Given the description of an element on the screen output the (x, y) to click on. 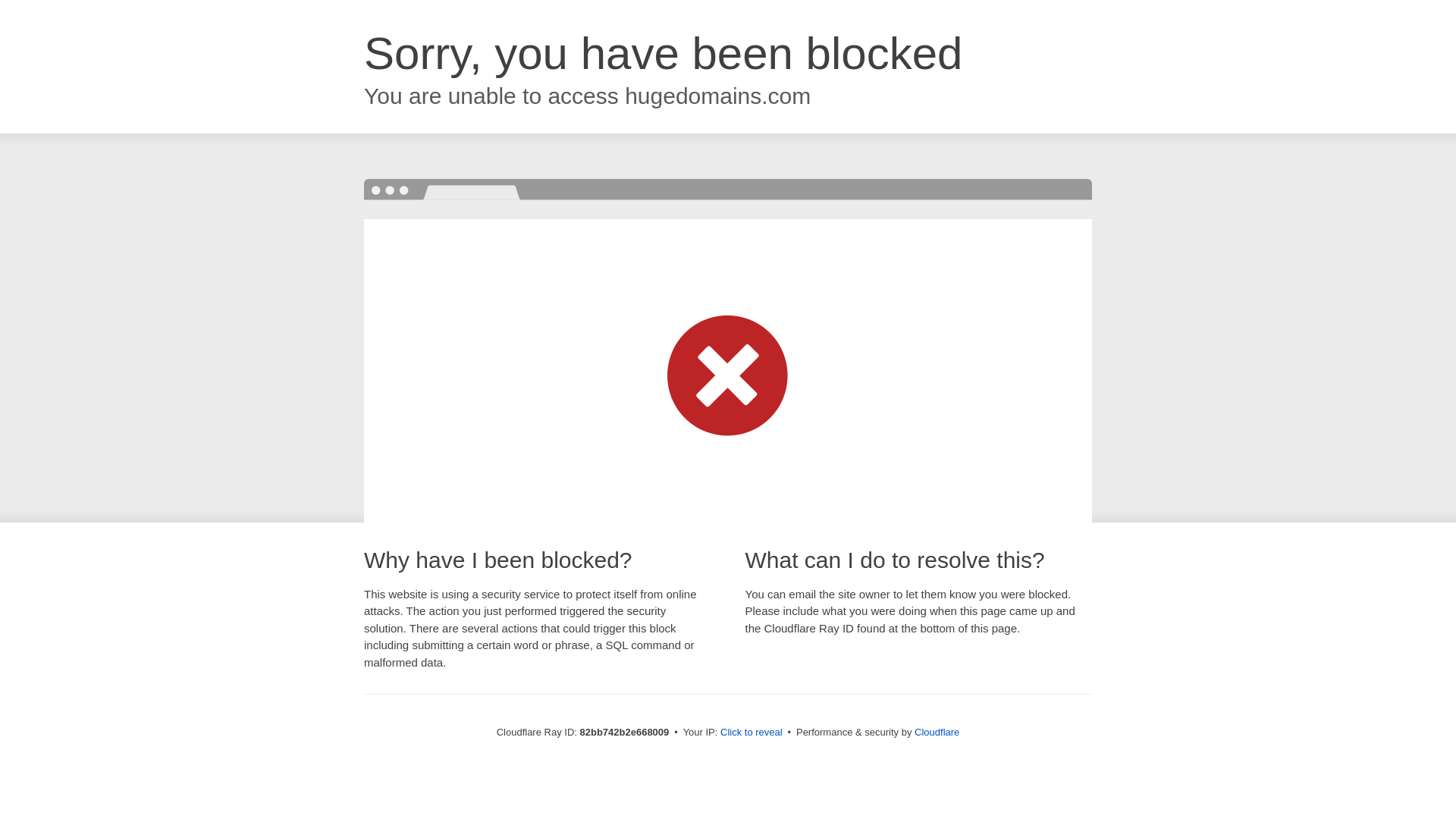
Click to reveal Element type: text (751, 732)
Cloudflare Element type: text (936, 731)
